Given the description of an element on the screen output the (x, y) to click on. 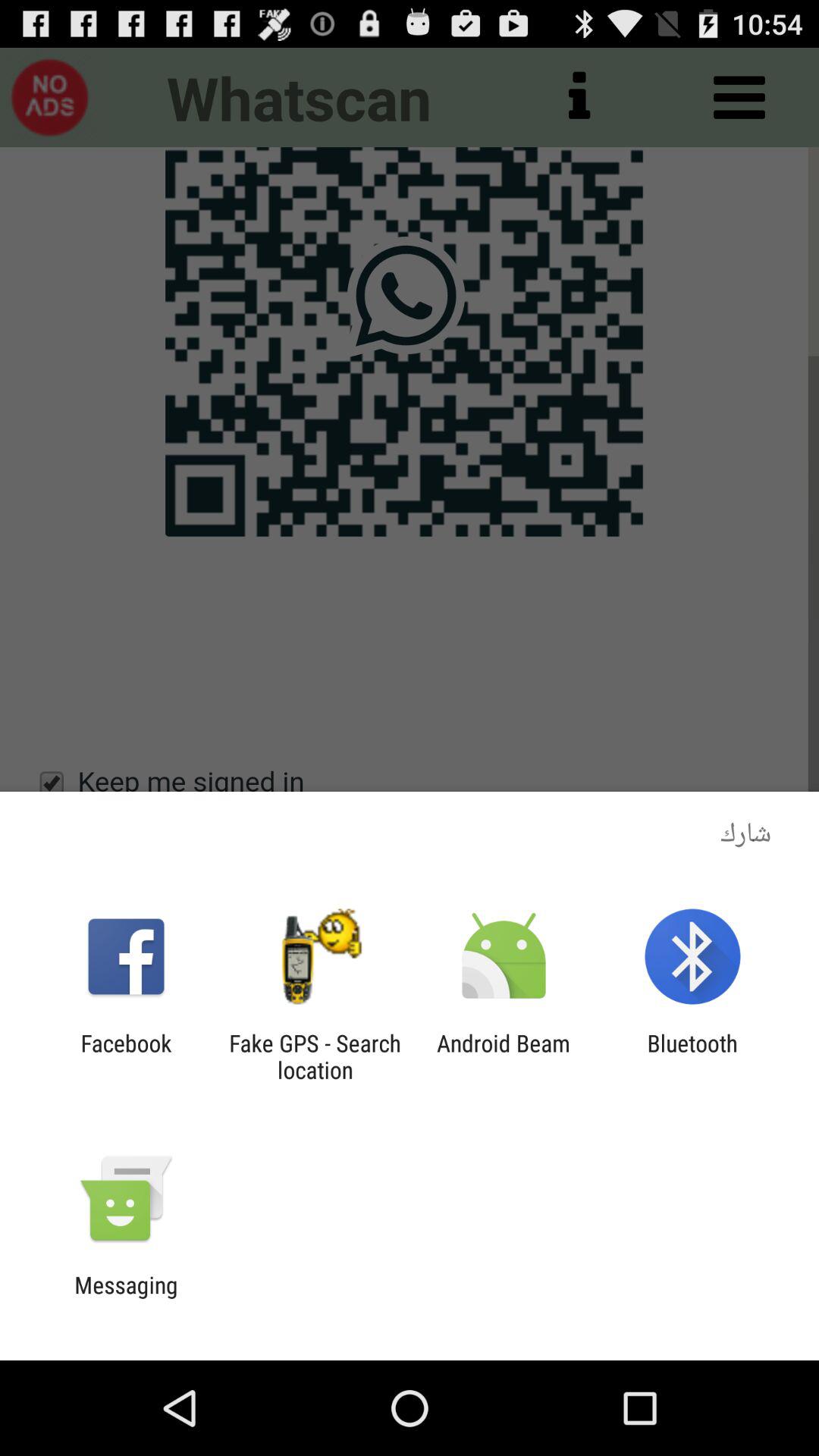
press the item to the left of the fake gps search item (125, 1056)
